Given the description of an element on the screen output the (x, y) to click on. 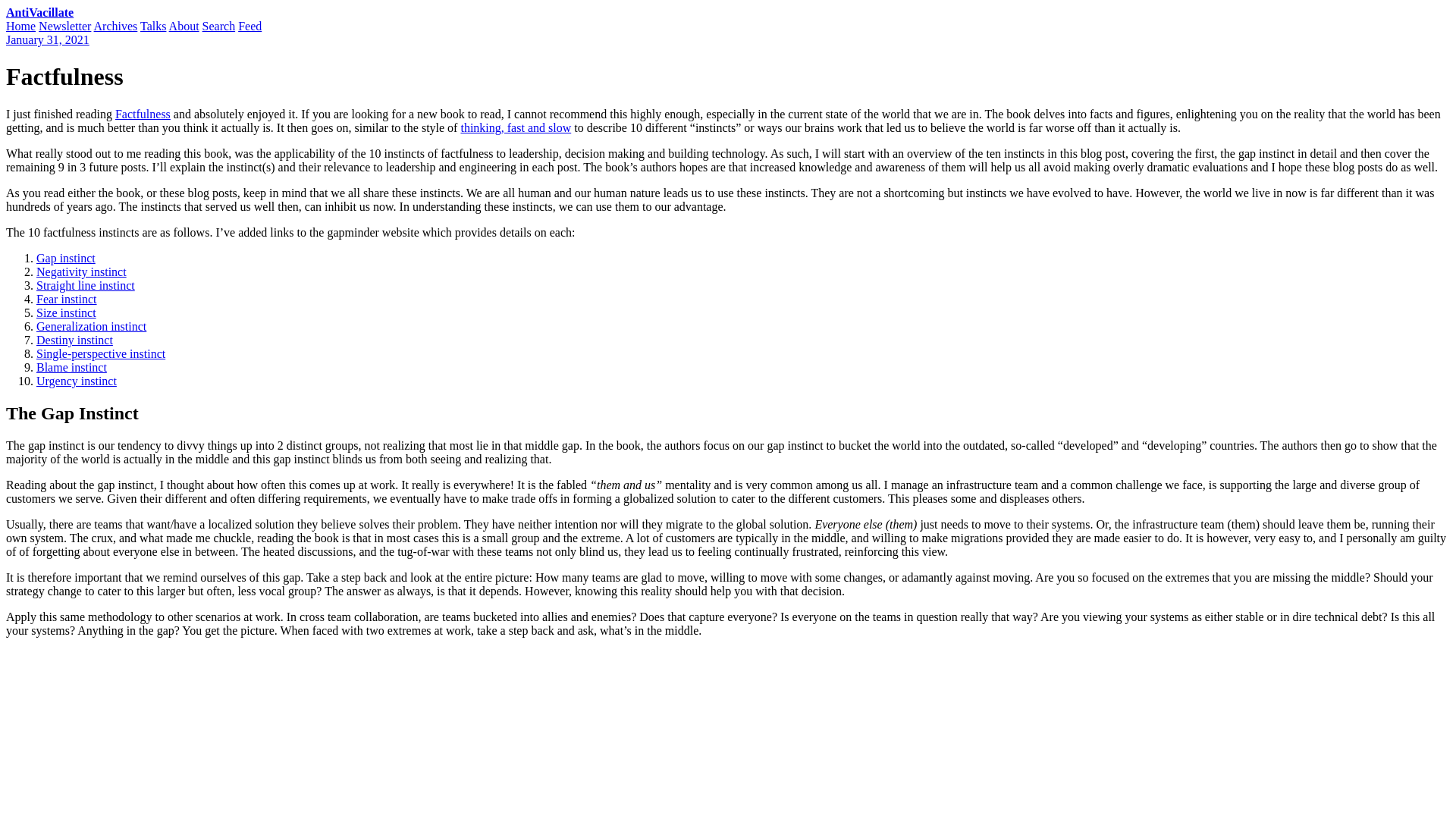
Newsletter (64, 25)
Talks (152, 25)
Single-perspective instinct (100, 353)
Generalization instinct (91, 326)
Urgency instinct (76, 380)
Gap instinct (66, 257)
Factfulness (142, 113)
About (183, 25)
About (183, 25)
January 31, 2021 (46, 39)
